Given the description of an element on the screen output the (x, y) to click on. 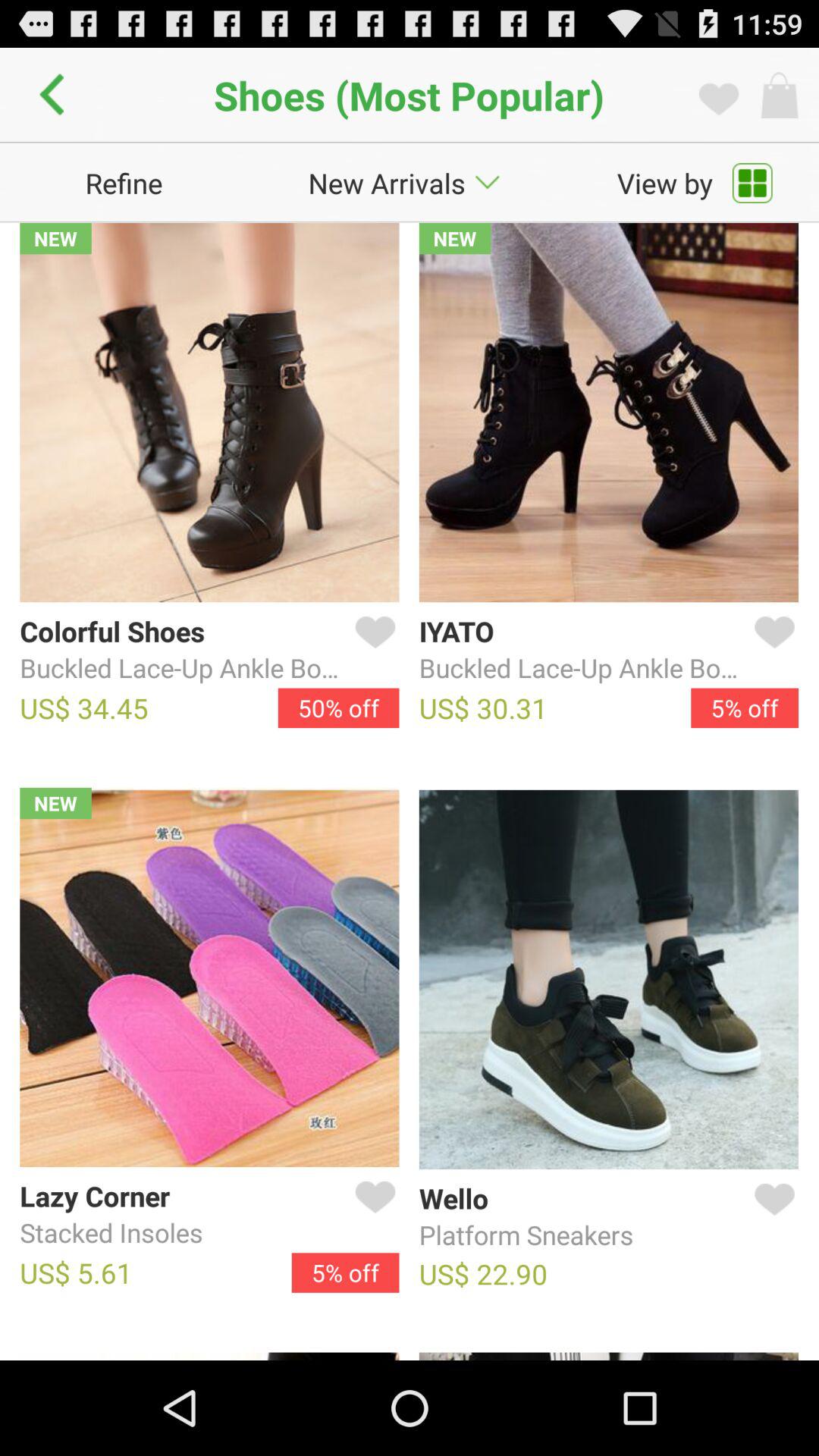
favorite (771, 650)
